Given the description of an element on the screen output the (x, y) to click on. 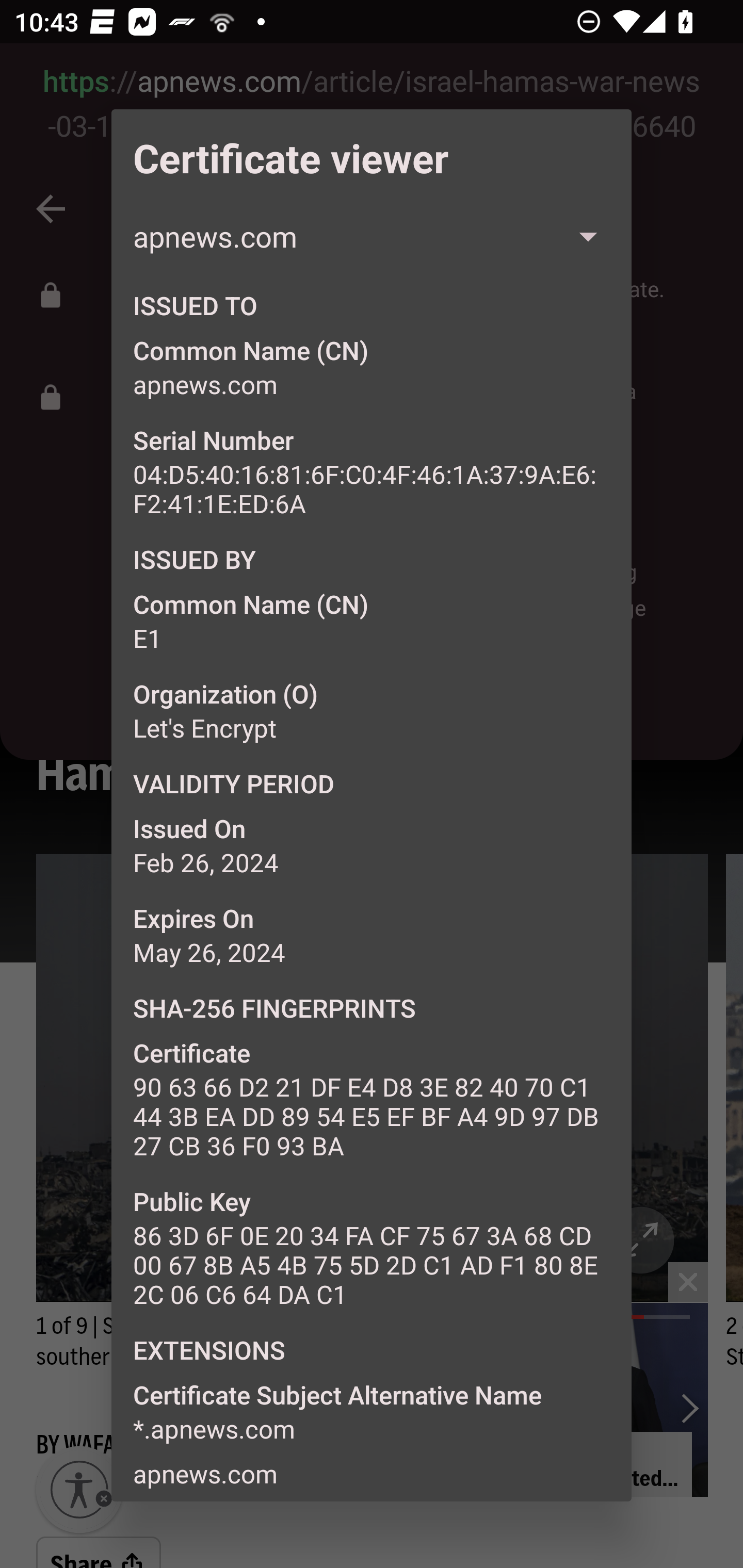
apnews.com (371, 235)
